Given the description of an element on the screen output the (x, y) to click on. 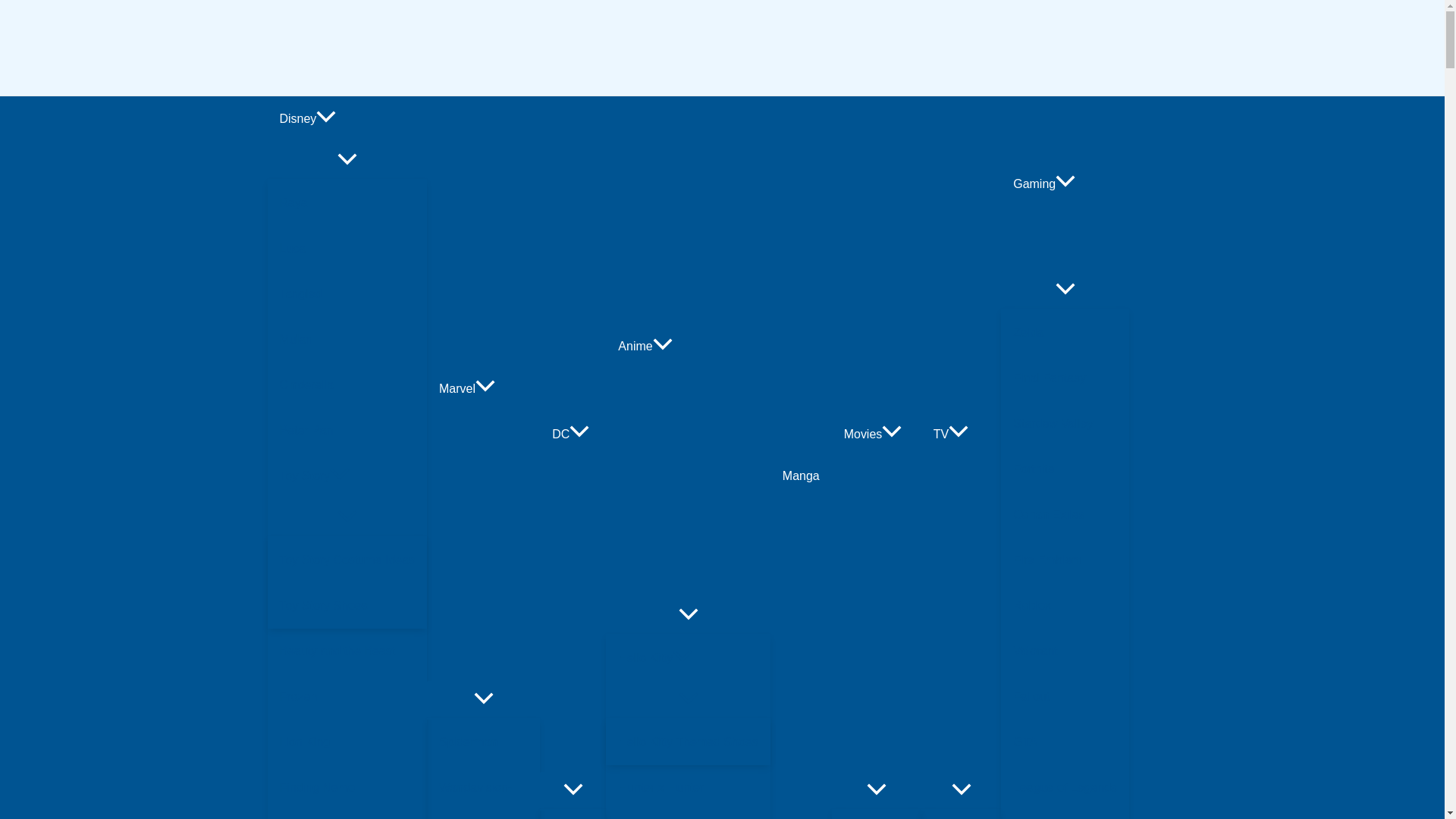
Menu Toggle (483, 699)
Lion King (346, 741)
Naruto (687, 814)
Luca (346, 248)
Hello Kitty (687, 657)
Toy Story (346, 475)
Tangled (346, 293)
Onward (346, 814)
Beauty and the Beast (346, 651)
Anime (687, 346)
Marvel (483, 388)
Menu Toggle (687, 699)
Menu Toggle (876, 790)
Frozen (346, 696)
Disney (346, 118)
